Given the description of an element on the screen output the (x, y) to click on. 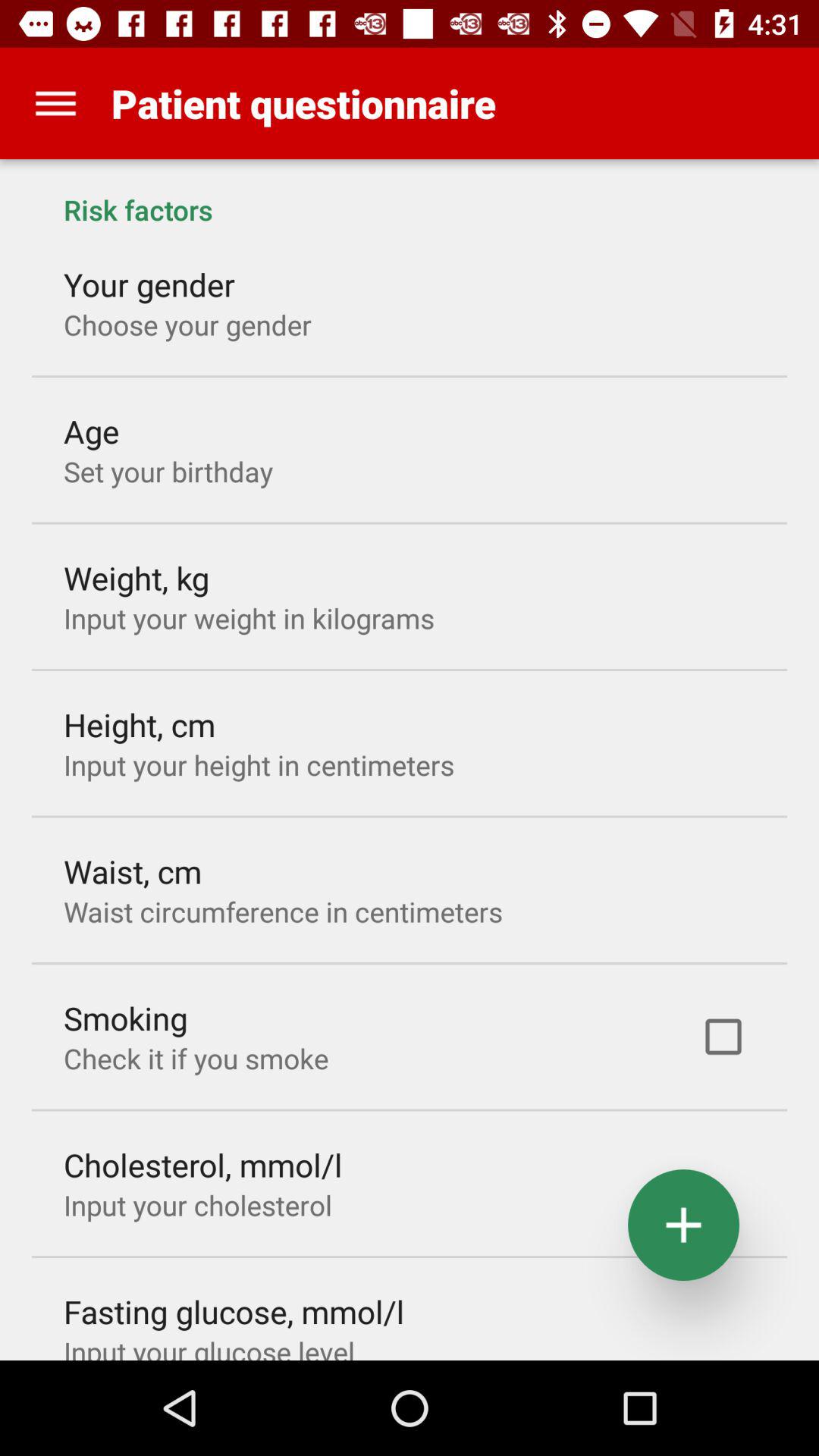
launch icon next to check it if item (723, 1036)
